Given the description of an element on the screen output the (x, y) to click on. 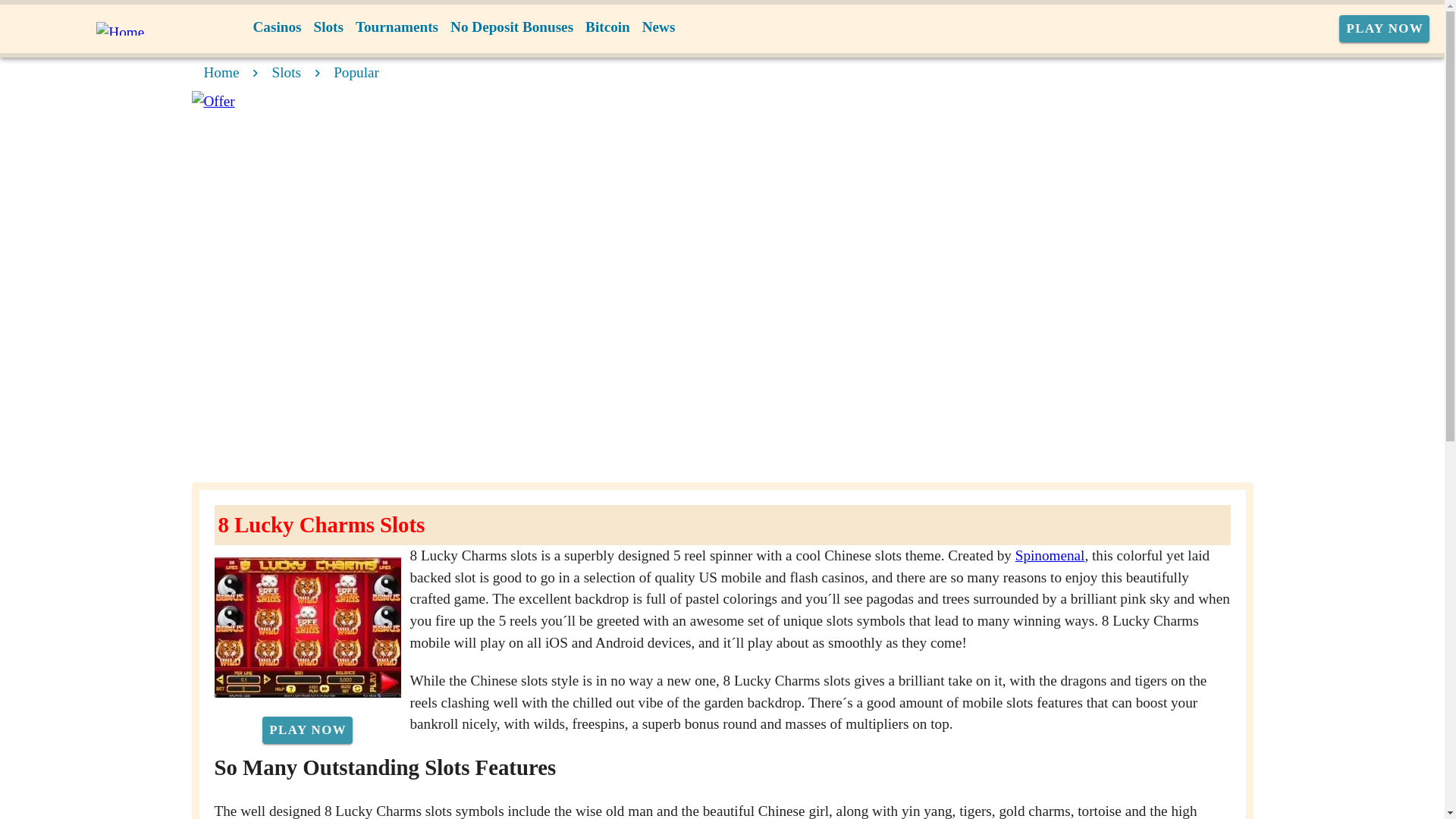
Spinomenal (1049, 555)
Tournaments (396, 27)
No Deposit Bonuses (511, 27)
Home (220, 72)
Slots (286, 72)
Casinos (277, 27)
Slots (328, 27)
Bitcoin (607, 27)
Popular (355, 72)
News (658, 27)
